Given the description of an element on the screen output the (x, y) to click on. 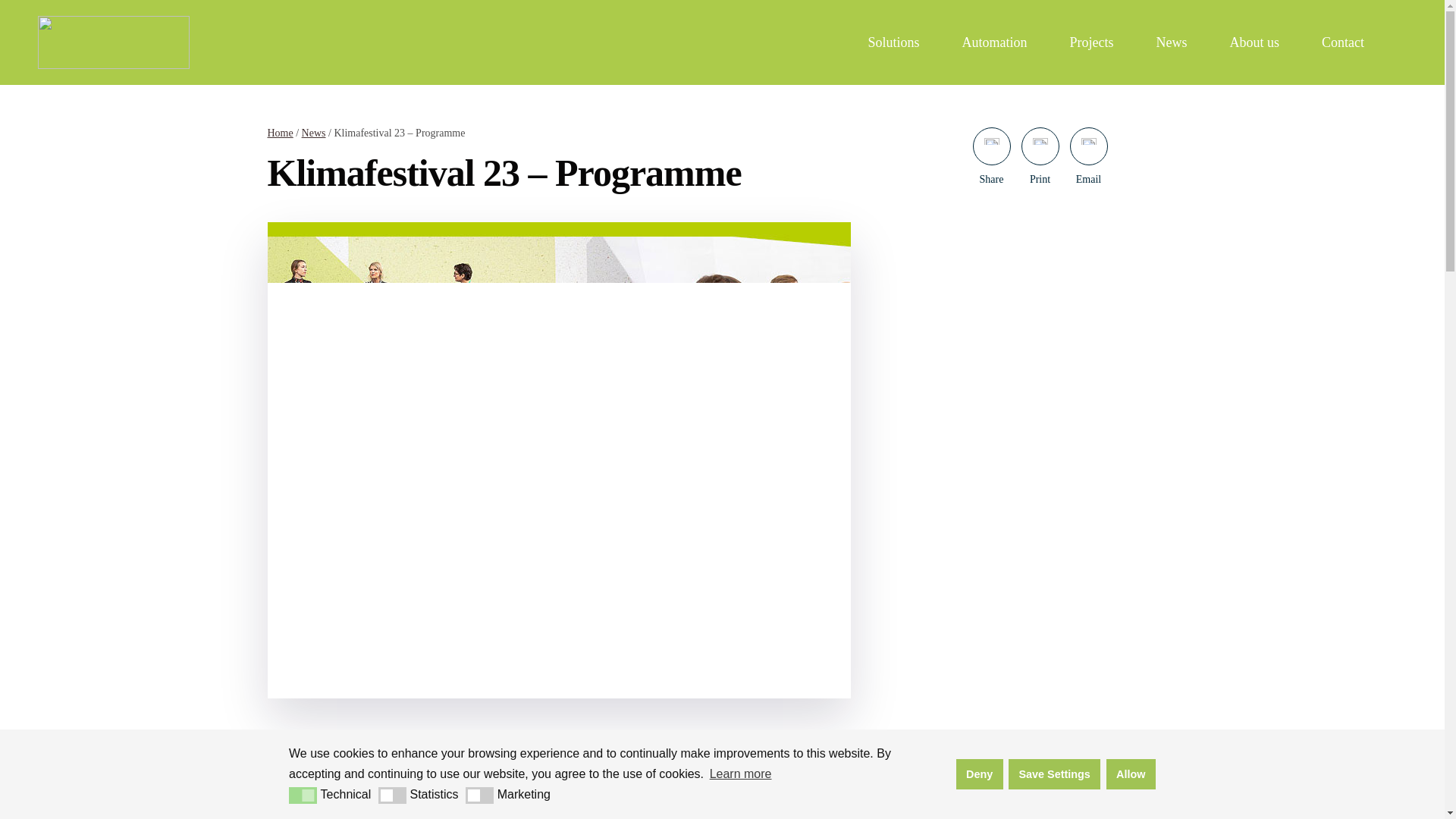
Projects (1090, 42)
Print (1039, 146)
News (313, 132)
Learn more (739, 773)
News (1171, 42)
About us (1253, 42)
Solutions (892, 42)
Share (991, 146)
Home (279, 132)
Email (1087, 146)
